Given the description of an element on the screen output the (x, y) to click on. 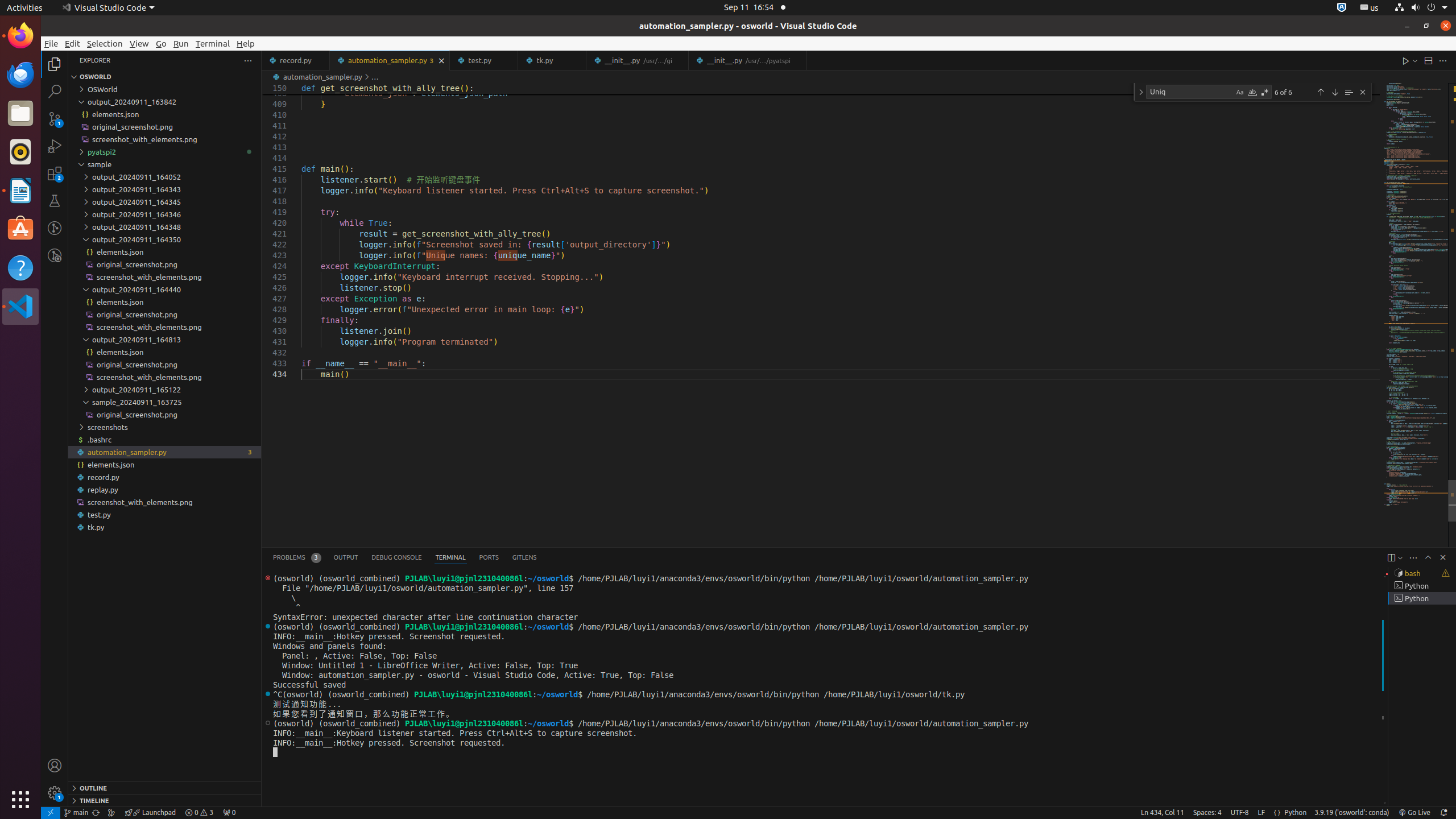
Close (Ctrl+W) Element type: push-button (798, 60)
elements.json Element type: tree-item (164, 464)
Ports Element type: page-tab (488, 557)
Explorer Section: osworld Element type: push-button (164, 76)
Previous Match (Shift+Enter) Element type: push-button (1320, 91)
